Given the description of an element on the screen output the (x, y) to click on. 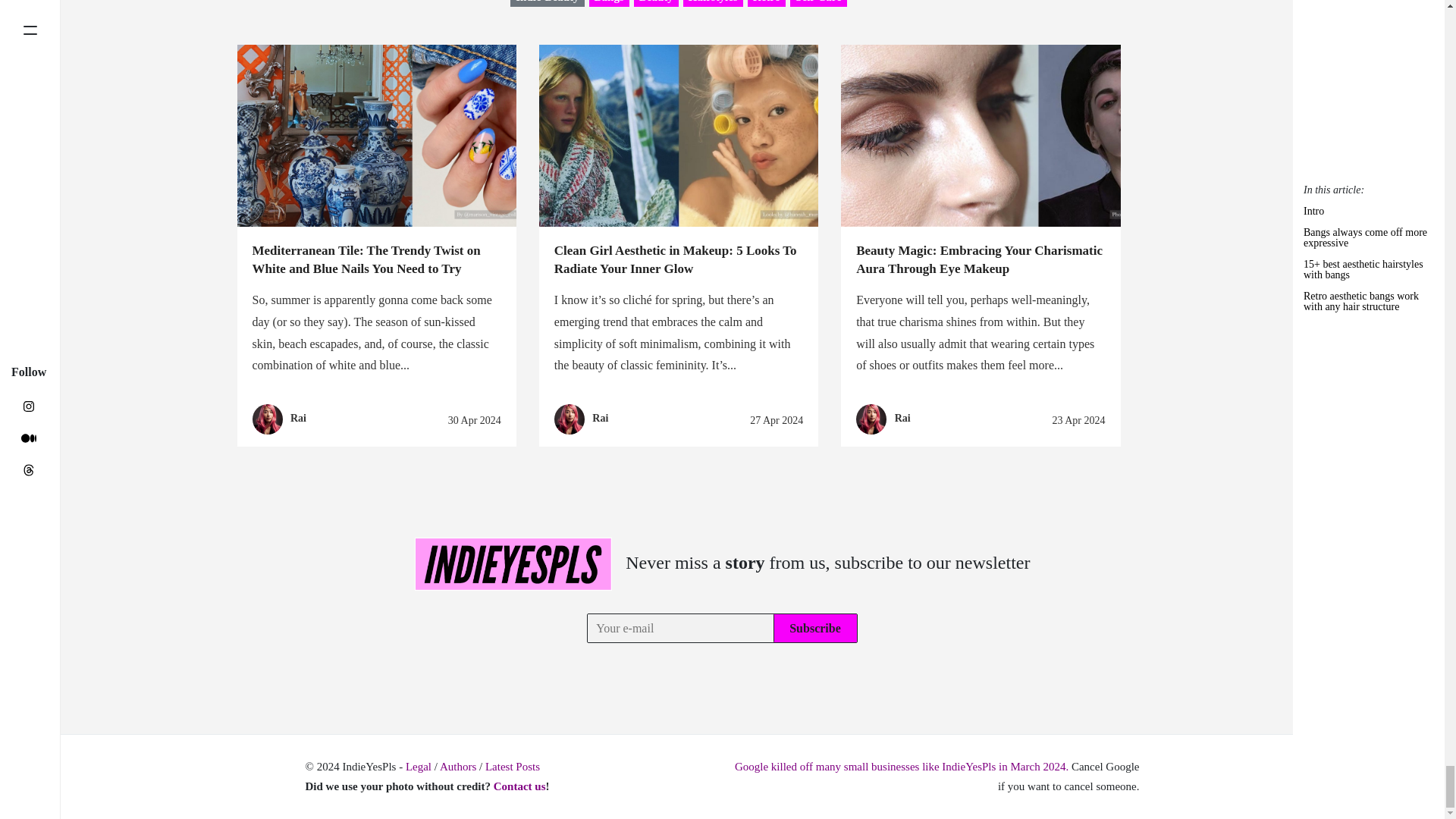
Self-Care (818, 3)
Beauty (655, 3)
Indie-Beauty (547, 3)
Self-Care (818, 3)
Subscribe (815, 628)
Retro (767, 3)
Beauty (655, 3)
Hairstyles (712, 3)
Retro (767, 3)
Bangs (608, 3)
Bangs (608, 3)
Indie-Beauty (547, 3)
